Given the description of an element on the screen output the (x, y) to click on. 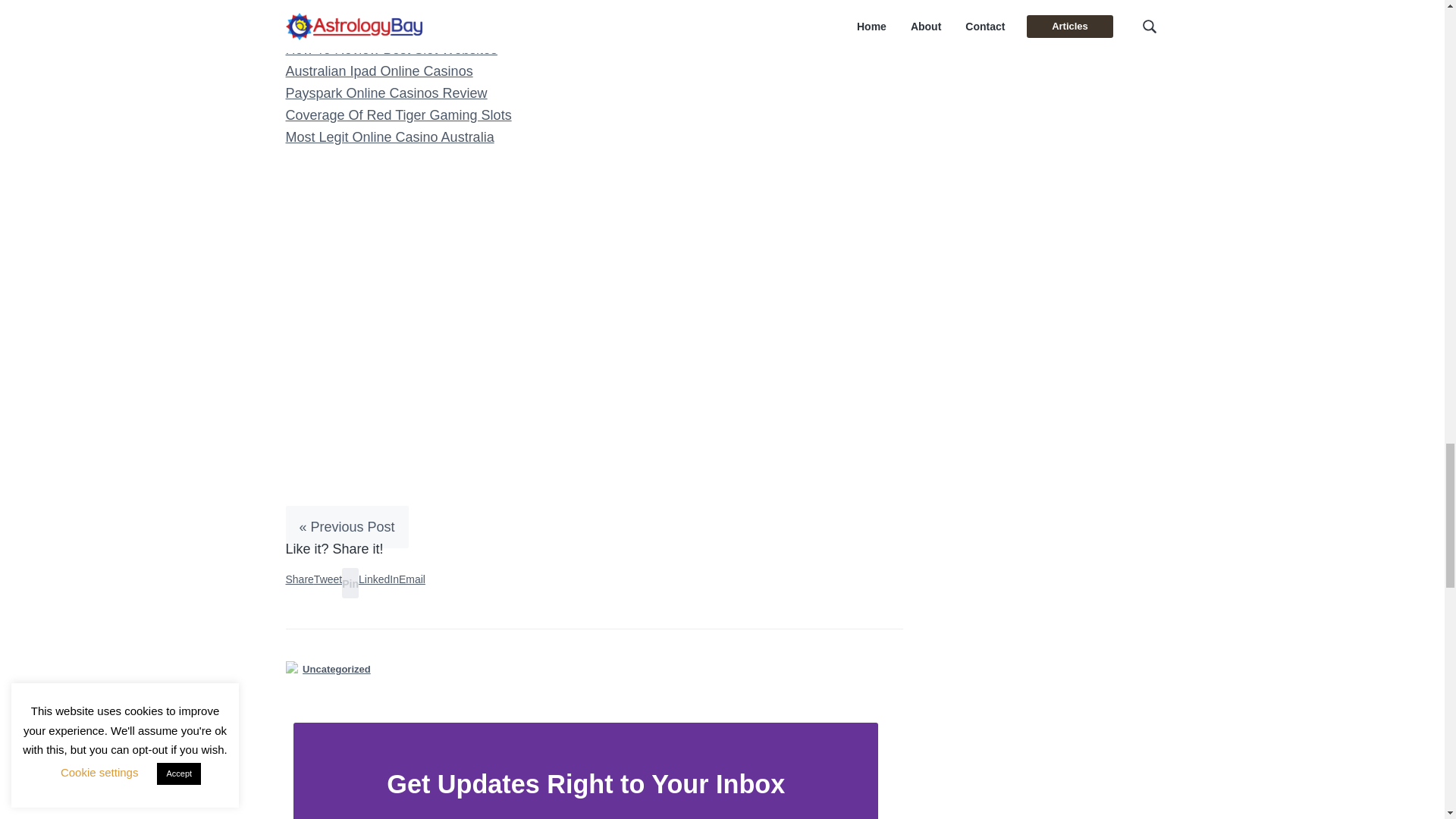
Tweet (328, 579)
Coverage Of Red Tiger Gaming Slots (398, 114)
Australian Ipad Online Casinos (378, 70)
Payspark Online Casinos Review (385, 92)
Share on LinkedIn (378, 579)
Payspark Online Casinos Review (385, 92)
Uncategorized (336, 668)
Most Legit Online Casino Australia (389, 136)
Share on Facebook (299, 579)
How To Review Best Slot Websites (390, 48)
Australian Ipad Online Casinos (378, 70)
Share on Twitter (328, 579)
How To Review Best Slot Websites (390, 48)
Share (299, 579)
All Star Slots Casino Overview (377, 27)
